Given the description of an element on the screen output the (x, y) to click on. 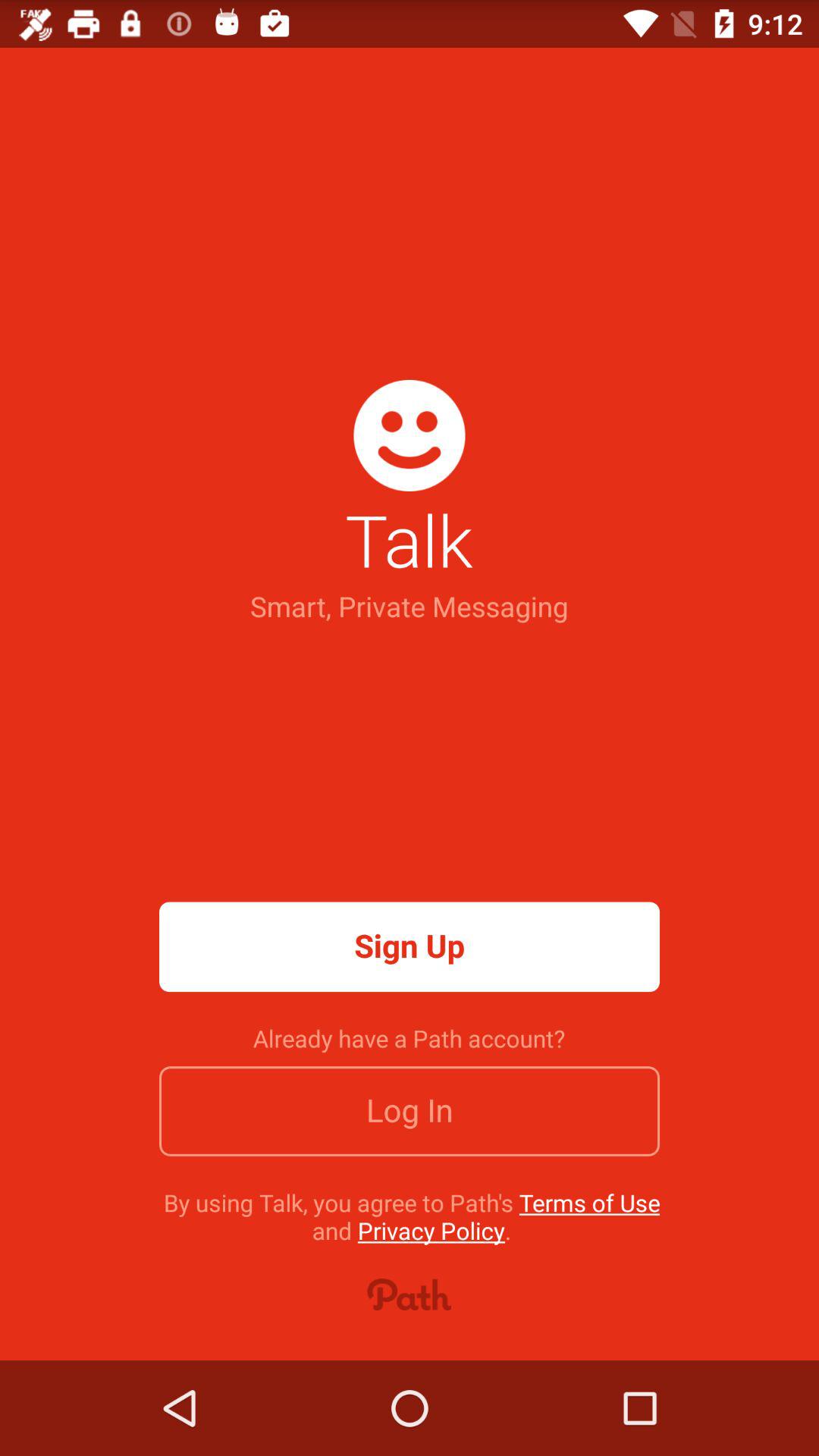
launch the item below the smart, private messaging (409, 946)
